Given the description of an element on the screen output the (x, y) to click on. 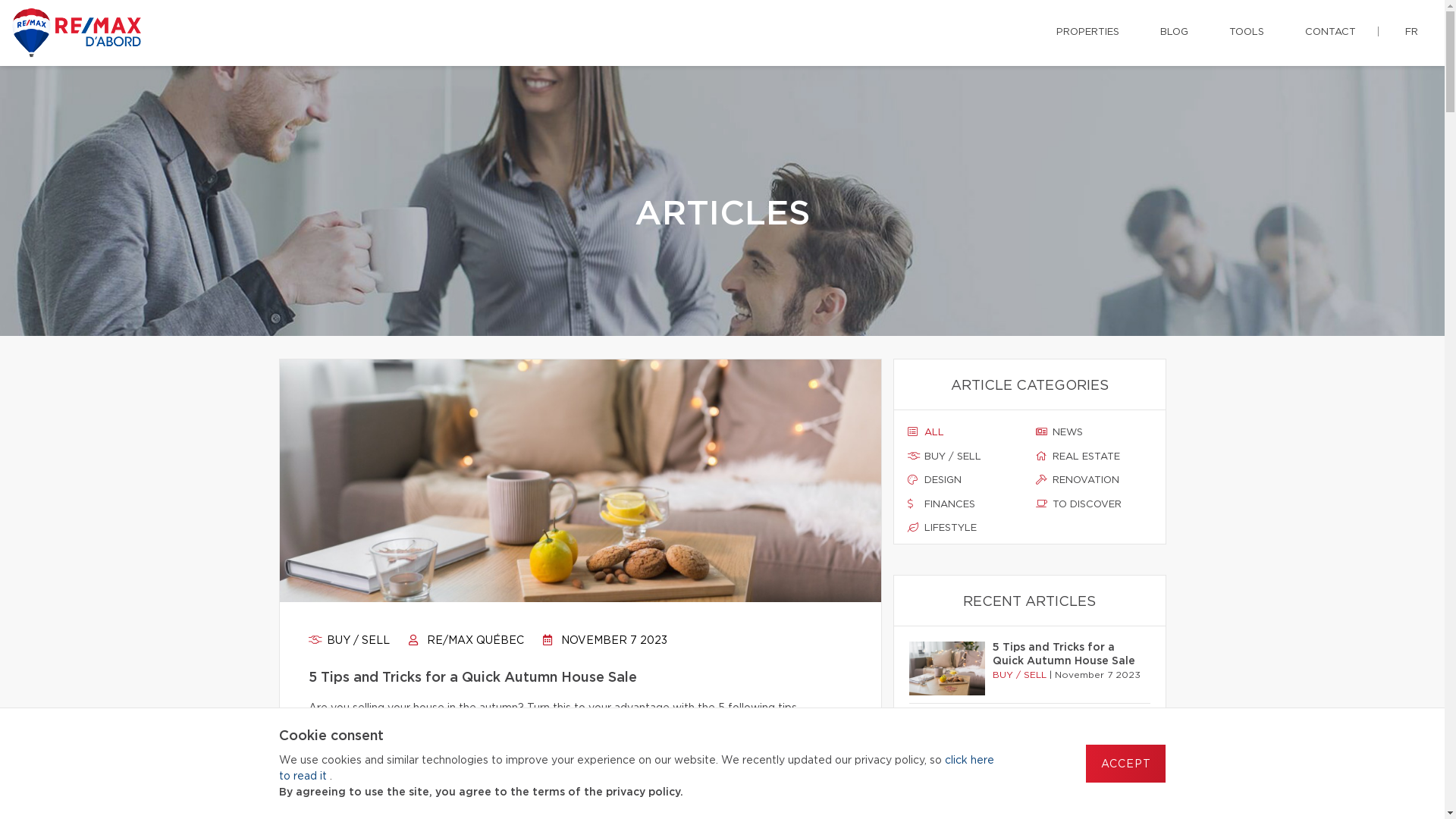
DESIGN Element type: text (964, 480)
TOOLS Element type: text (1246, 32)
click here to read it Element type: text (636, 768)
READ MORE Element type: text (376, 748)
BUY / SELL Element type: text (348, 640)
RENOVATION Element type: text (1093, 480)
ALL Element type: text (964, 432)
REAL ESTATE Element type: text (1093, 456)
CONTACT Element type: text (1330, 32)
LIFESTYLE Element type: text (964, 528)
NEWS Element type: text (1093, 432)
TO DISCOVER Element type: text (1093, 504)
BLOG Element type: text (1173, 32)
FINANCES Element type: text (964, 504)
5 Tips and Tricks for a Quick Autumn House Sale Element type: text (579, 678)
5 Tips and Tricks for a Quick Autumn House Sale Element type: text (1066, 654)
FR Element type: text (1411, 32)
PROPERTIES Element type: text (1087, 32)
BUY / SELL Element type: text (964, 456)
3 Green Uses for the Fallen Leaves in Your Yard Element type: text (1066, 731)
ACCEPT Element type: text (1125, 763)
